Given the description of an element on the screen output the (x, y) to click on. 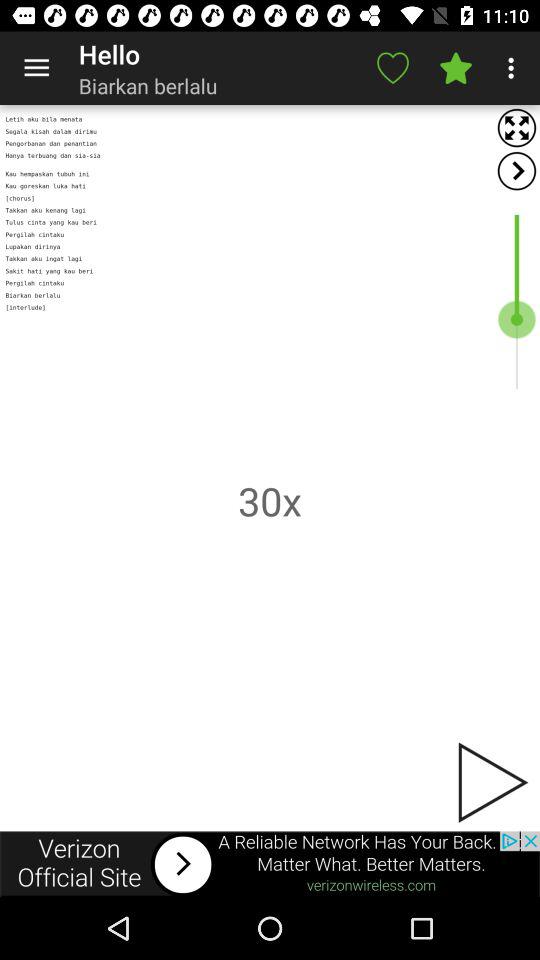
expand image (516, 127)
